Given the description of an element on the screen output the (x, y) to click on. 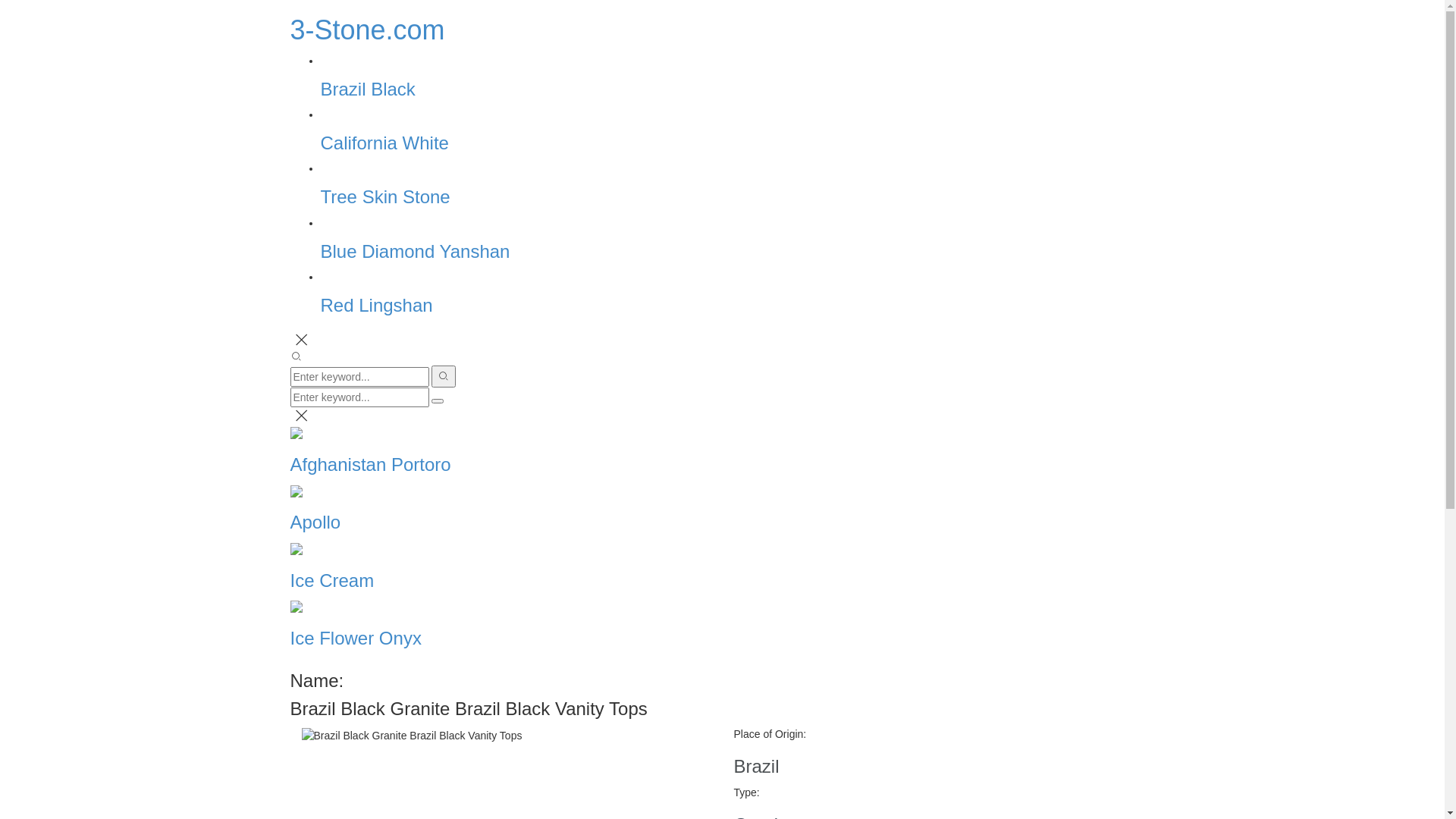
Afghanistan Portoro Element type: text (721, 450)
Tree Skin Stone Element type: text (384, 196)
Brazil Element type: text (756, 766)
Blue Diamond Yanshan Element type: text (414, 251)
Brazil Black Granite Brazil Black Vanity Tops Element type: hover (411, 735)
Apollo Element type: text (721, 507)
Ice Flower Onyx Element type: text (721, 623)
Brazil Black Element type: text (367, 88)
3-Stone.com Element type: text (366, 29)
Red Lingshan Element type: text (376, 304)
Ice Cream Element type: text (721, 566)
California White Element type: text (384, 142)
